Given the description of an element on the screen output the (x, y) to click on. 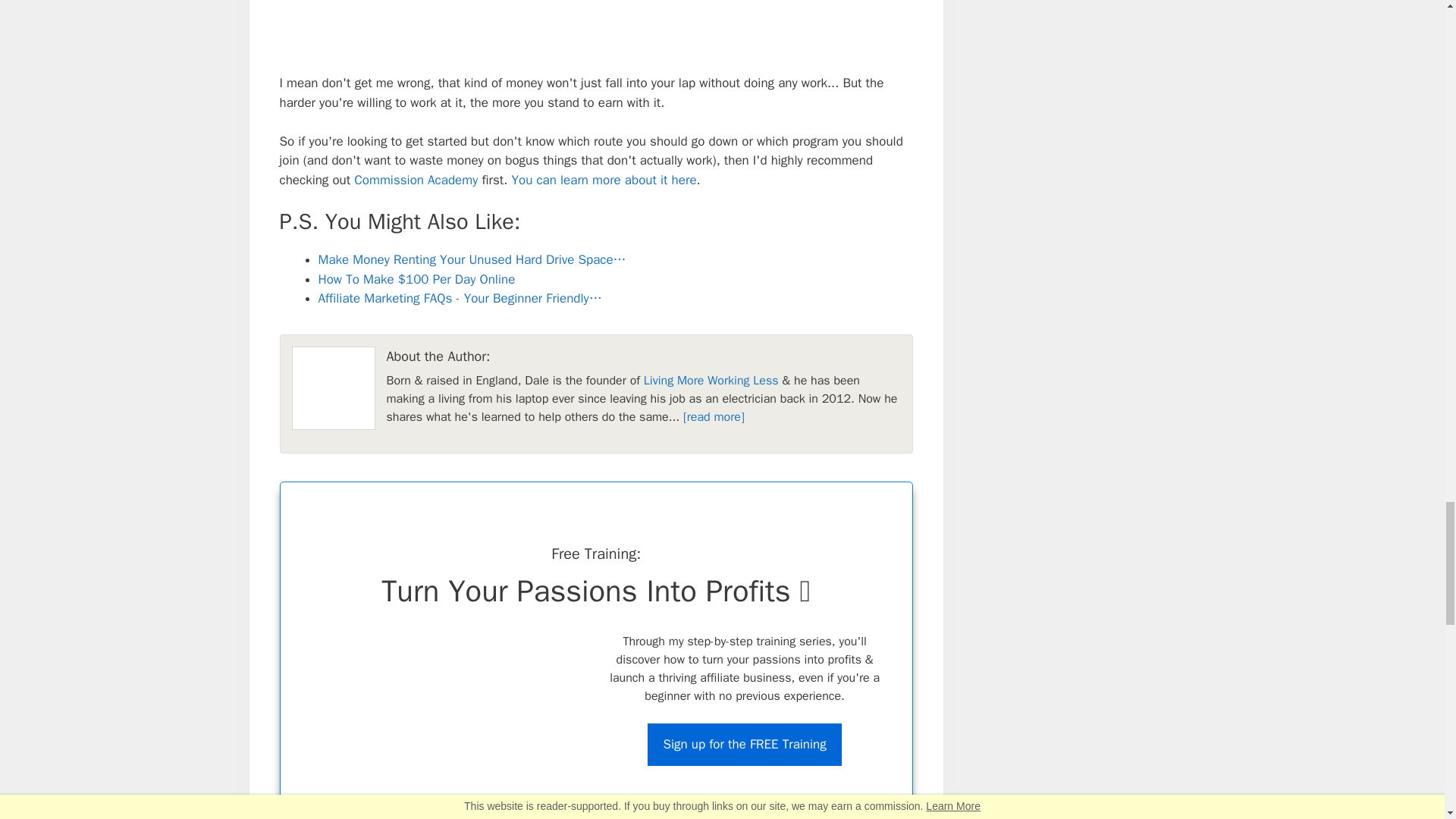
Living More Working Less (710, 380)
Commission Academy (415, 179)
You can learn more about it here (603, 179)
Read More (713, 417)
Sign up for the FREE Training (744, 744)
